Given the description of an element on the screen output the (x, y) to click on. 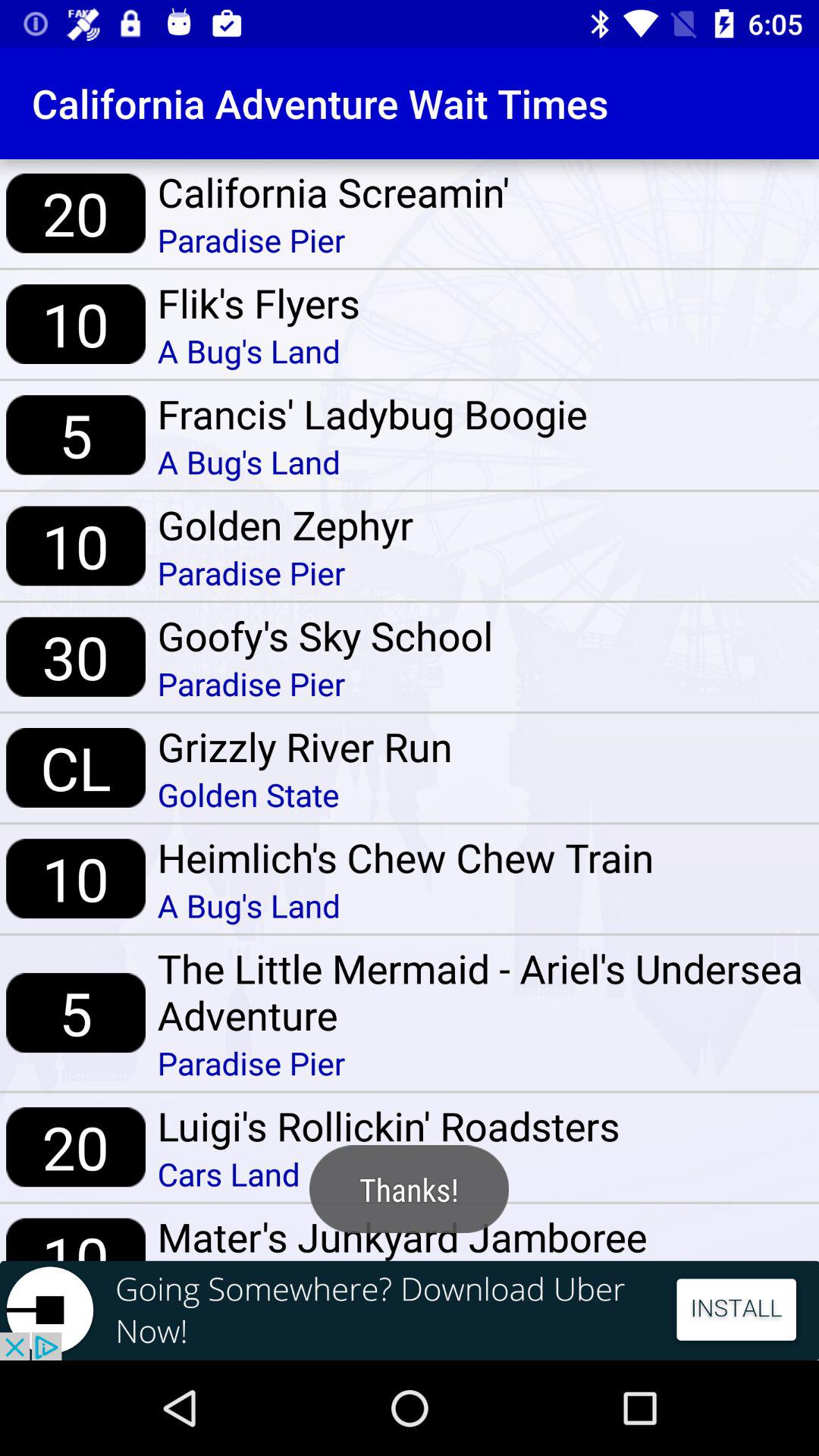
swipe to cars land icon (388, 1173)
